Given the description of an element on the screen output the (x, y) to click on. 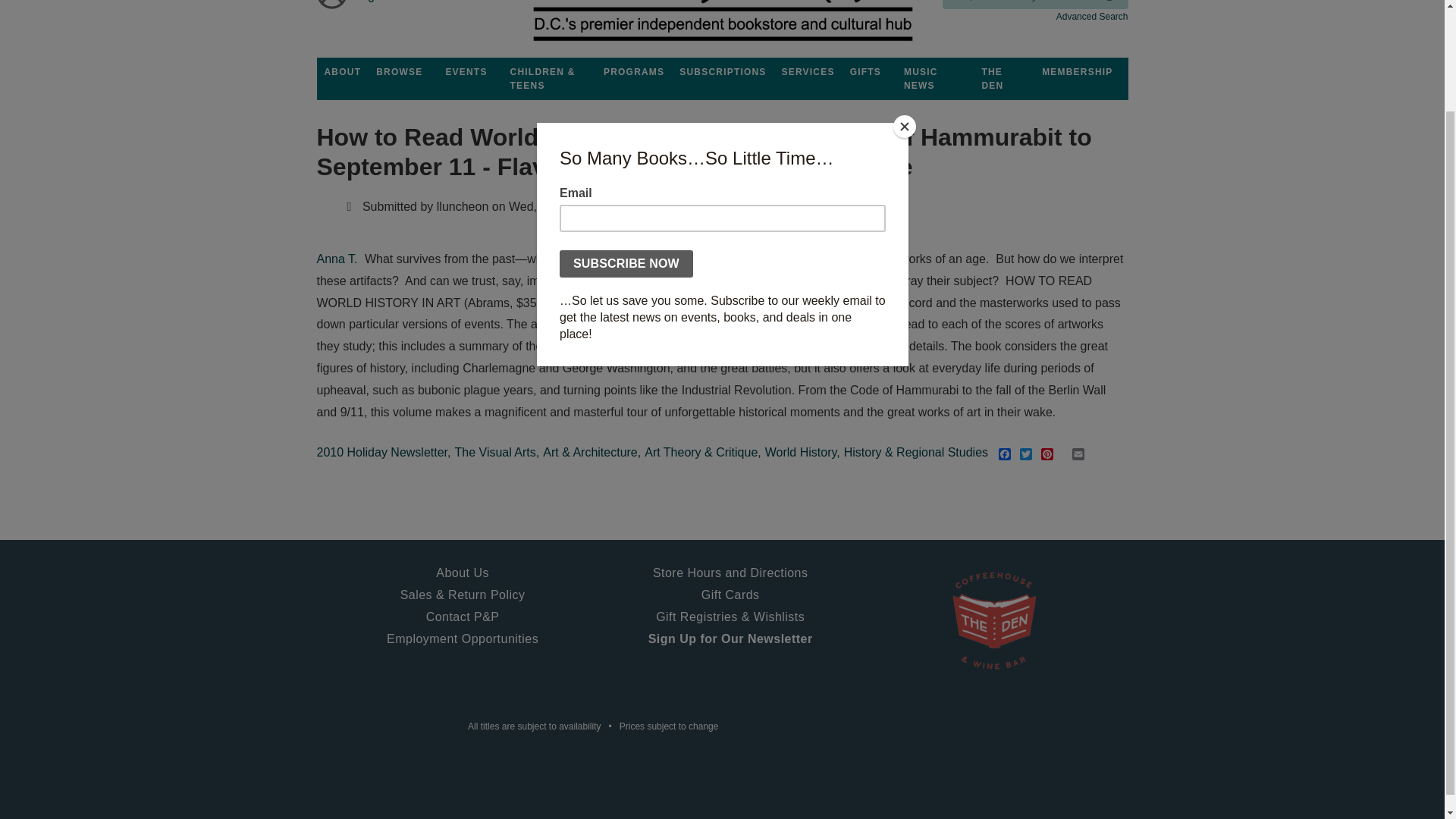
Cart (371, 6)
ABOUT (343, 71)
Children and Teens Department (548, 78)
My Account (332, 6)
Advanced Search (1092, 16)
Title, author or keyword... (1034, 4)
PROGRAMS (633, 71)
EVENTS (465, 71)
SERVICES (808, 71)
BROWSE (398, 71)
SUBSCRIPTIONS (722, 71)
Browse our shelves (398, 71)
Visit your cart (371, 6)
See information about our programs (633, 71)
